Given the description of an element on the screen output the (x, y) to click on. 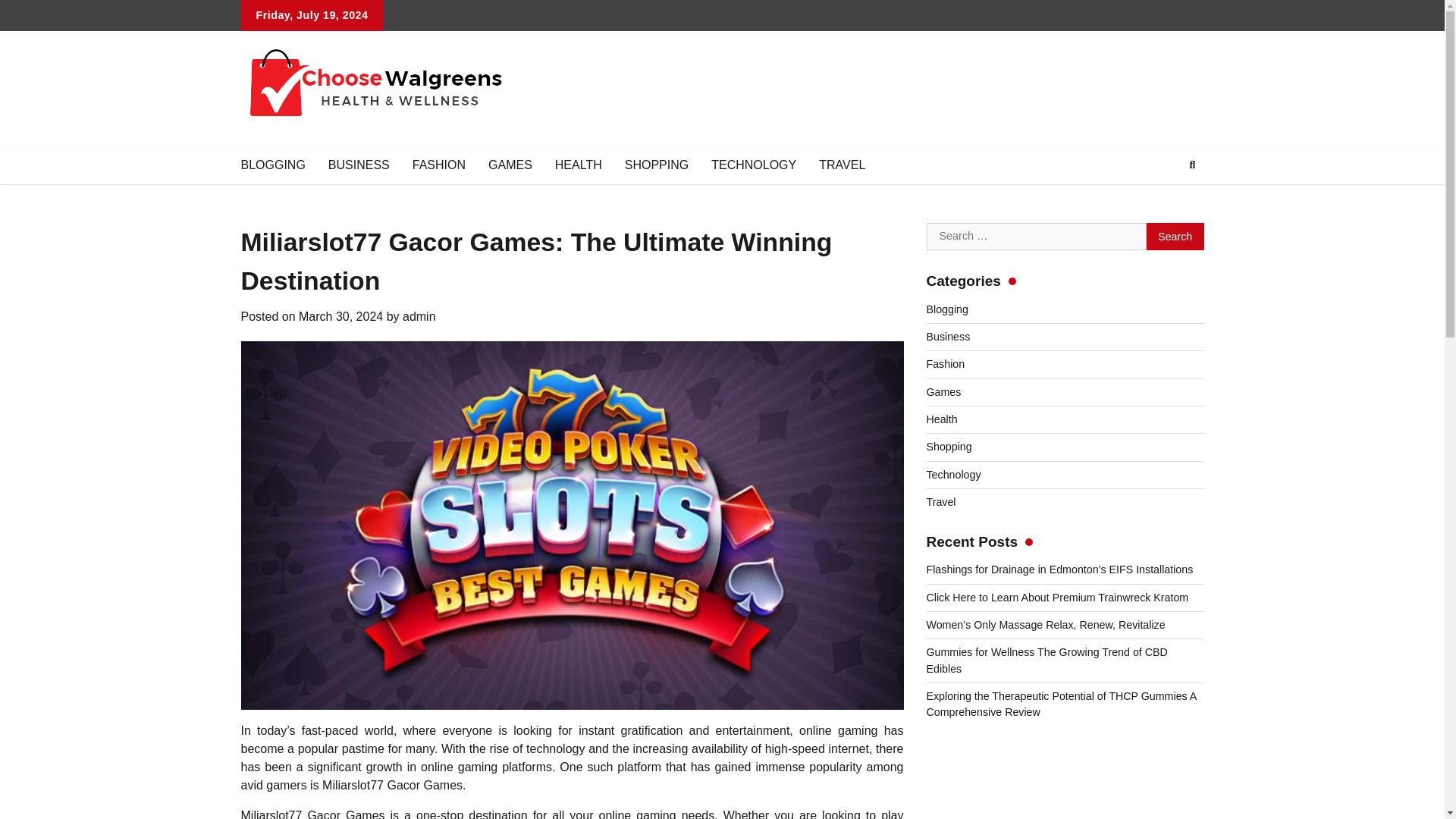
Business (948, 336)
TECHNOLOGY (754, 164)
TRAVEL (842, 164)
Blogging (947, 309)
admin (419, 316)
Shopping (949, 446)
HEALTH (577, 164)
March 30, 2024 (340, 316)
Search (1192, 164)
FASHION (439, 164)
Search (1175, 236)
Search (1175, 236)
Games (943, 391)
Search (1175, 236)
SHOPPING (656, 164)
